Given the description of an element on the screen output the (x, y) to click on. 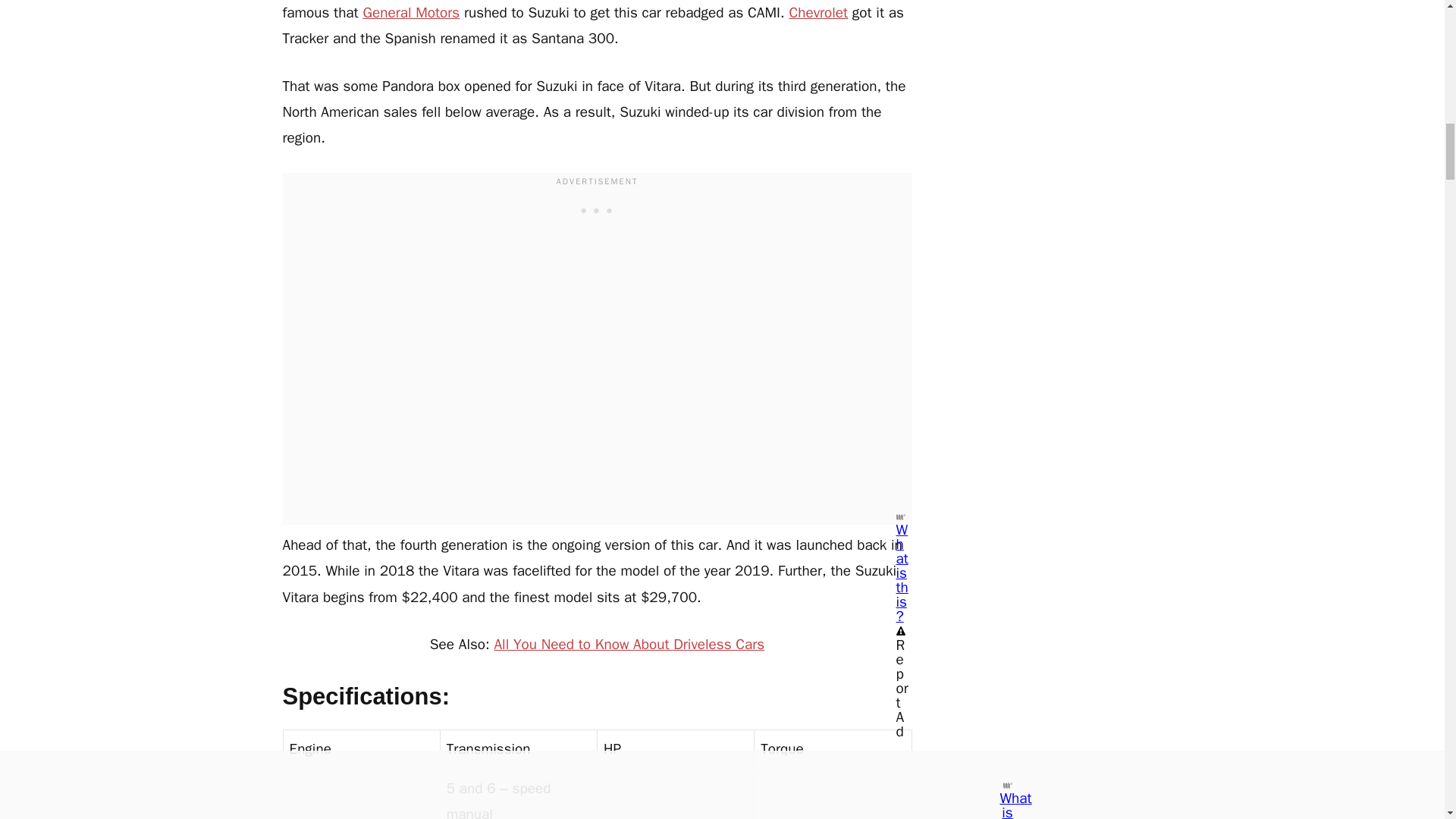
3rd party ad content (597, 209)
